Given the description of an element on the screen output the (x, y) to click on. 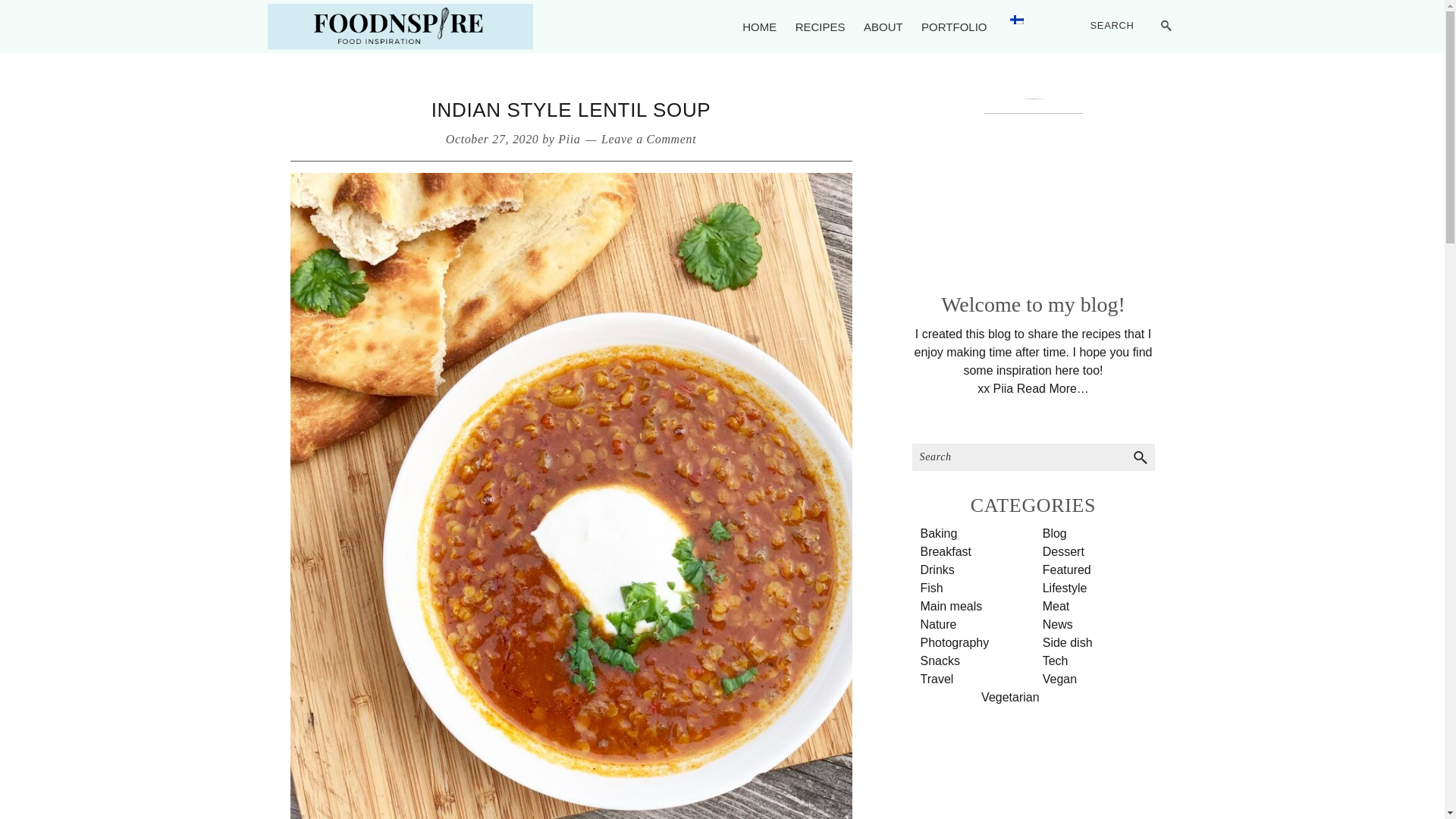
Featured (1066, 569)
Drinks (936, 569)
HOME (759, 26)
Baking (938, 533)
Blog (1054, 533)
ABOUT (883, 26)
RECIPES (820, 26)
Dessert (1063, 551)
Piia (568, 138)
Leave a Comment (648, 138)
